Given the description of an element on the screen output the (x, y) to click on. 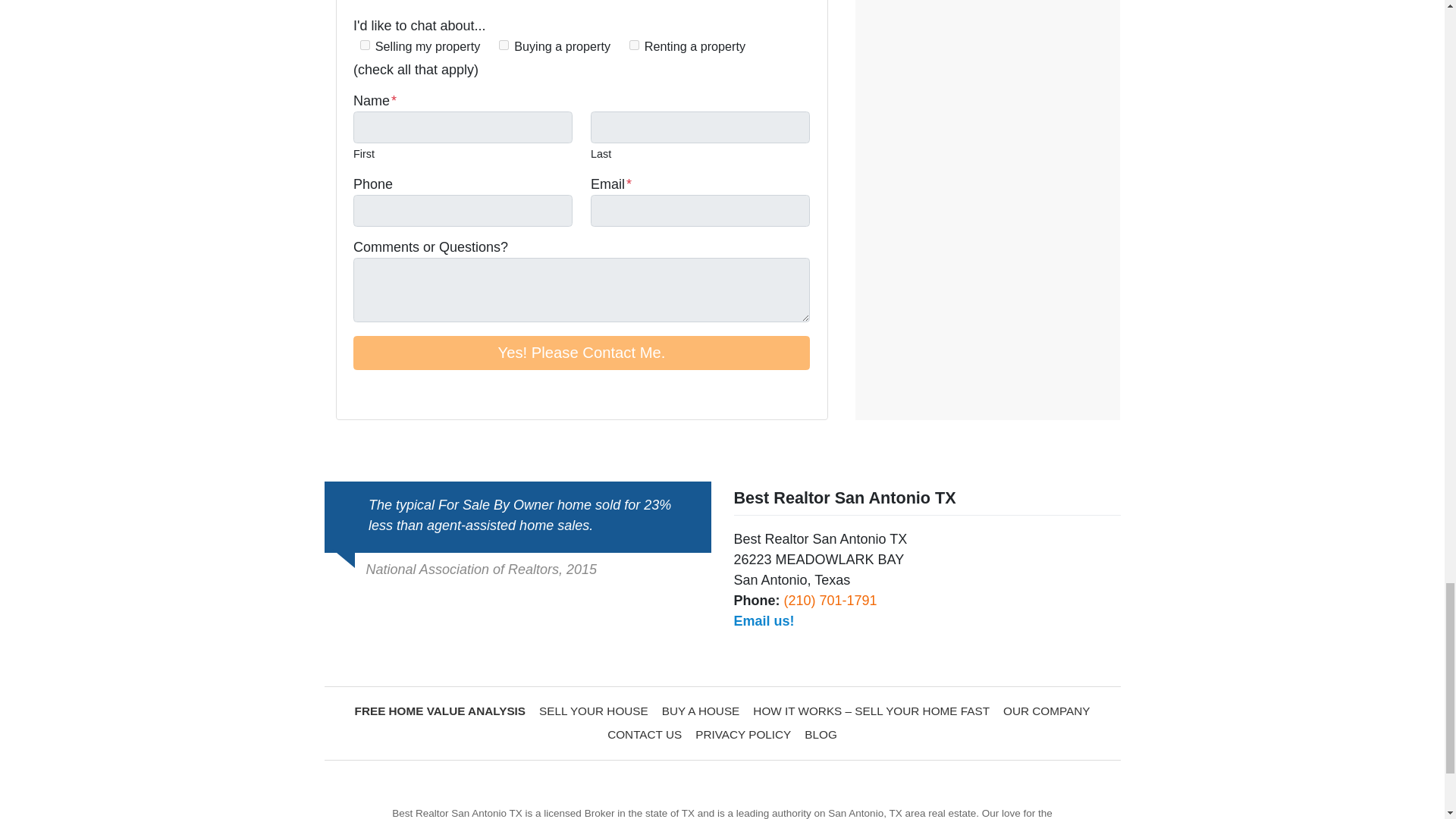
FREE HOME VALUE ANALYSIS (439, 712)
SELL YOUR HOUSE (593, 712)
Buying a property (503, 44)
CONTACT US (643, 734)
Renting a property (633, 44)
OUR COMPANY (1045, 712)
Instagram (383, 393)
BUY A HOUSE (700, 712)
Yes! Please Contact Me.  (581, 352)
Realtor (425, 393)
